Given the description of an element on the screen output the (x, y) to click on. 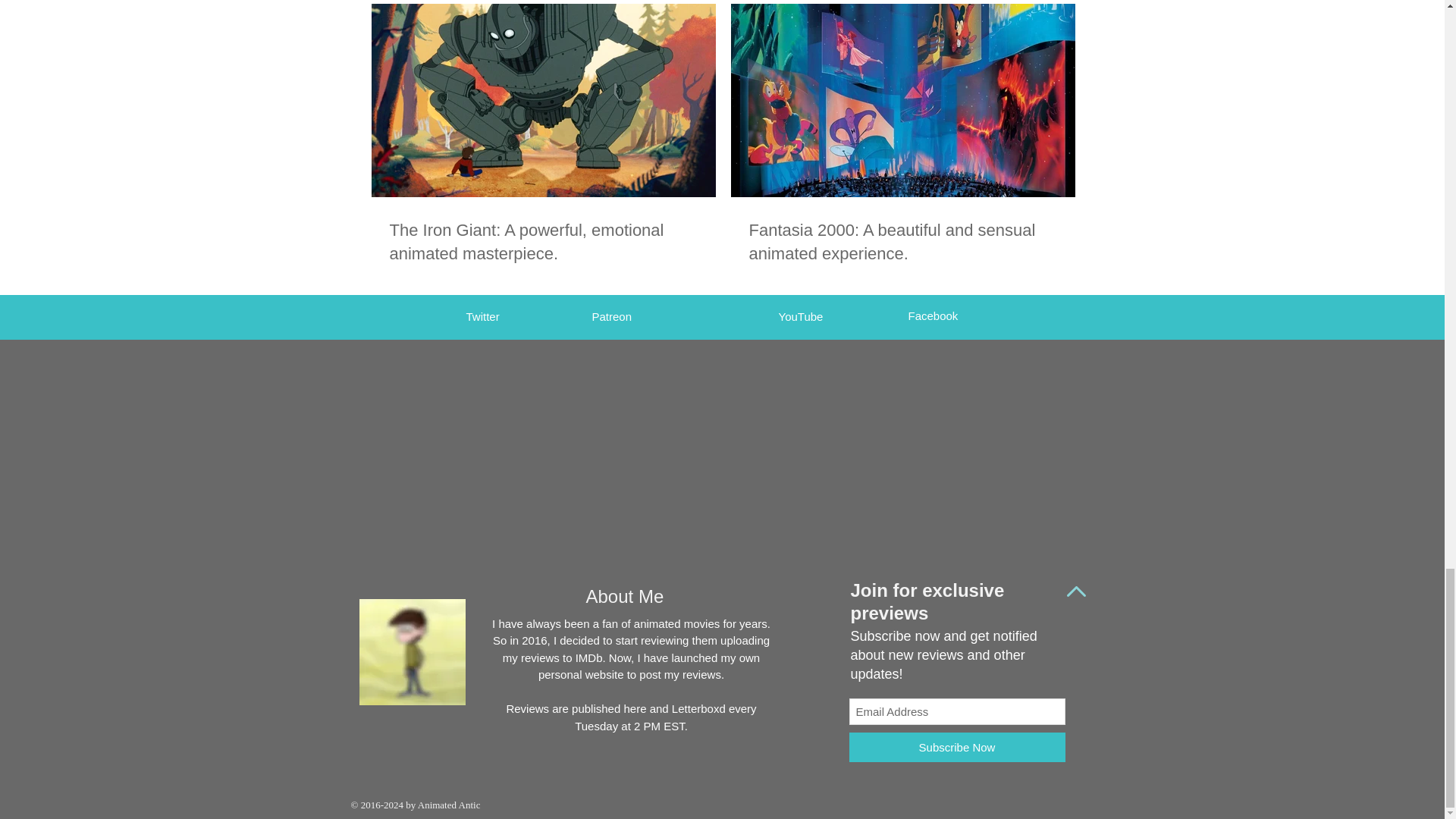
YouTube (799, 316)
Fantasia 2000: A beautiful and sensual animated experience. (903, 242)
Subscribe Now (956, 747)
Twitter (482, 316)
Patreon (611, 316)
Facebook (933, 315)
The Iron Giant: A powerful, emotional animated masterpiece. (543, 242)
